Given the description of an element on the screen output the (x, y) to click on. 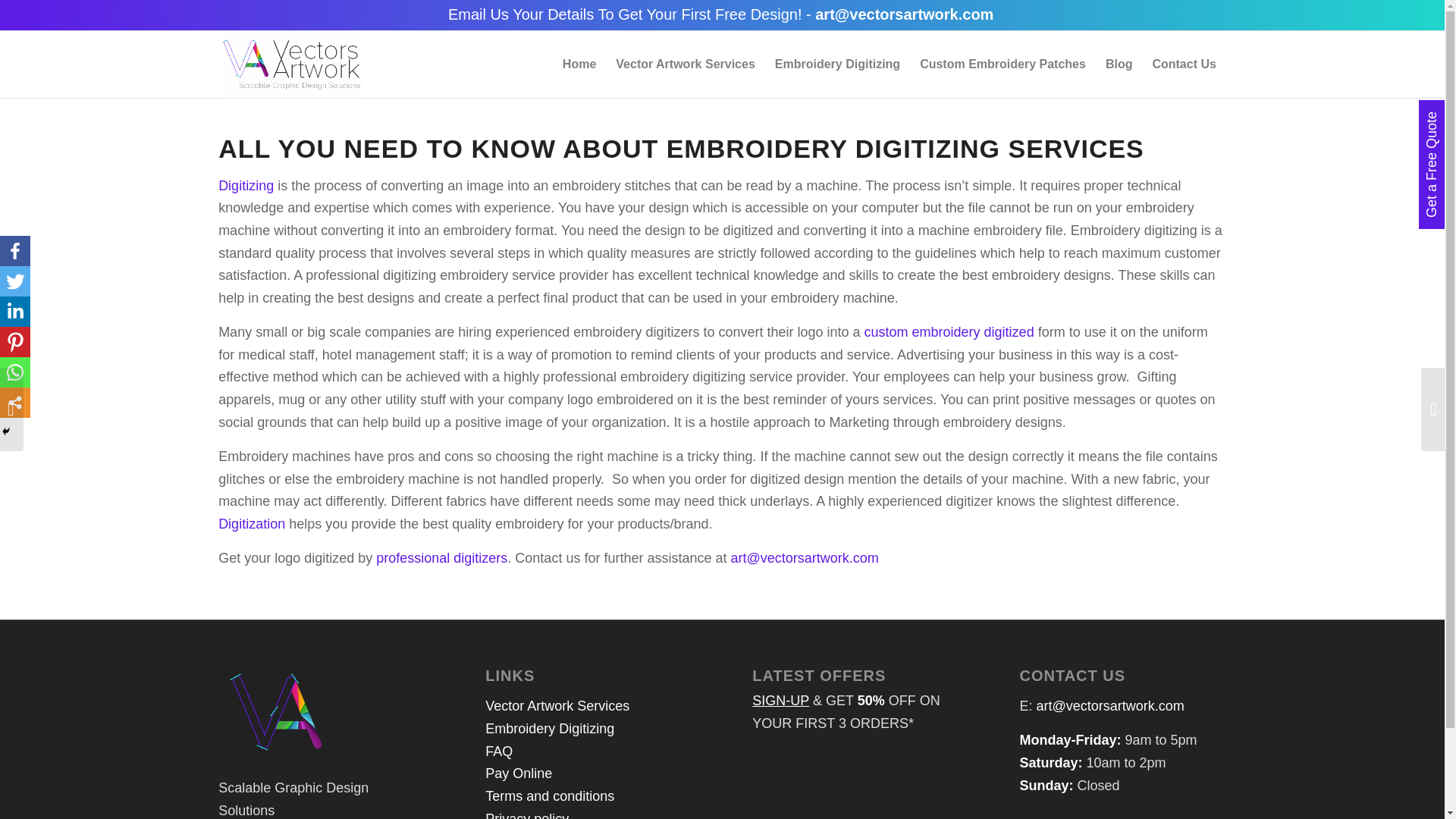
Facebook (15, 250)
Twitter (15, 281)
Digitizing (245, 185)
Pinterest (15, 341)
Contact Us (1183, 64)
Terms and conditions (549, 795)
Pay Online (517, 773)
FAQ (498, 751)
Embroidery Digitizing (549, 728)
Vector Artwork Services (685, 64)
Vector Artwork Services (556, 705)
Linkedin (15, 311)
Privacy policy (526, 815)
Custom Embroidery Patches (1003, 64)
professional digitizers (440, 557)
